Given the description of an element on the screen output the (x, y) to click on. 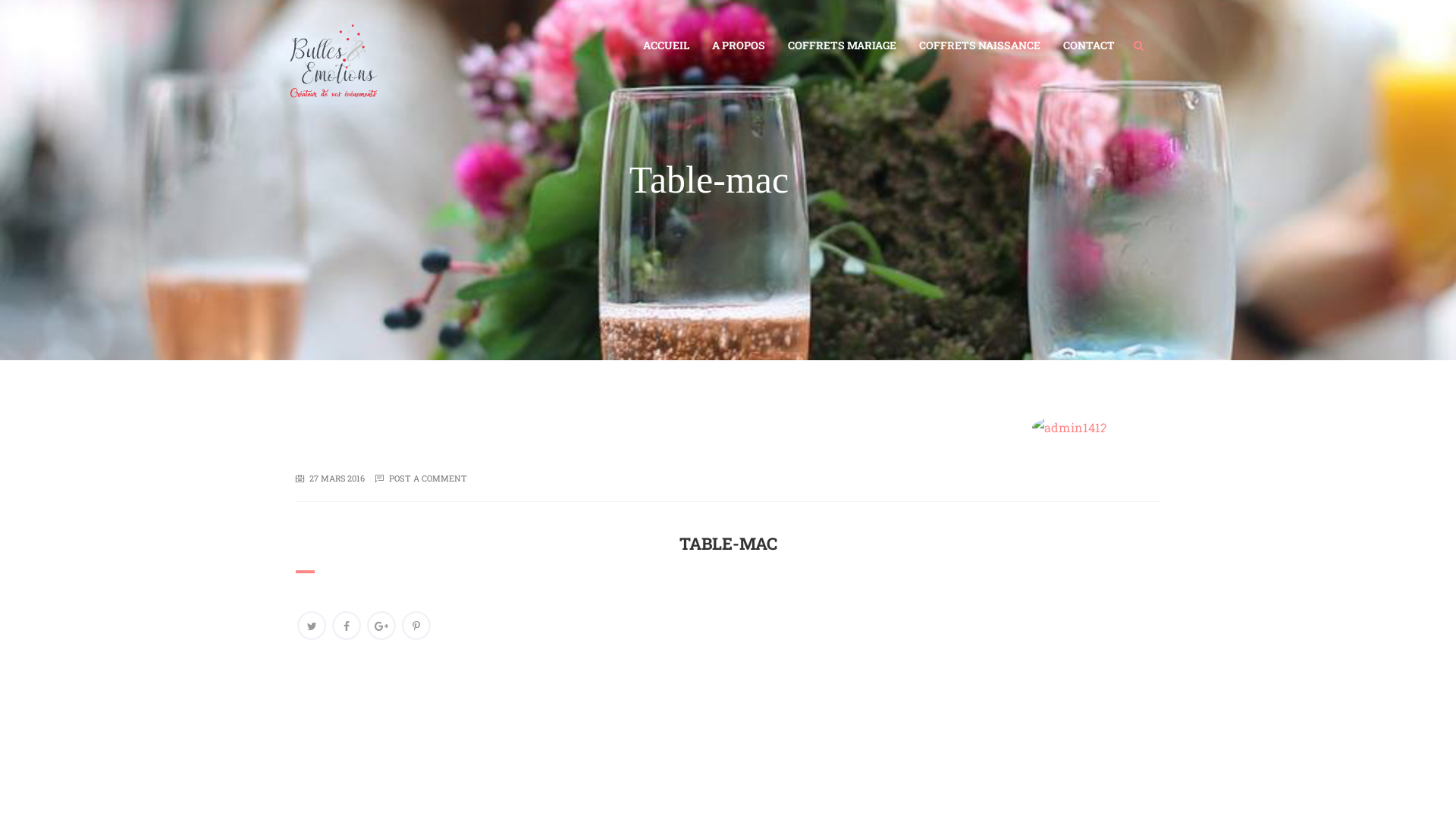
Google + Element type: hover (381, 625)
COFFRETS MARIAGE Element type: text (841, 45)
A PROPOS Element type: text (738, 45)
COFFRETS NAISSANCE Element type: text (979, 45)
Pinterest Element type: hover (415, 625)
ACCUEIL Element type: text (665, 45)
POST A COMMENT Element type: text (428, 477)
CONTACT Element type: text (1088, 45)
Bulles et Emotions Element type: hover (337, 39)
Twitter Element type: hover (311, 625)
Facebook Element type: hover (346, 625)
